Given the description of an element on the screen output the (x, y) to click on. 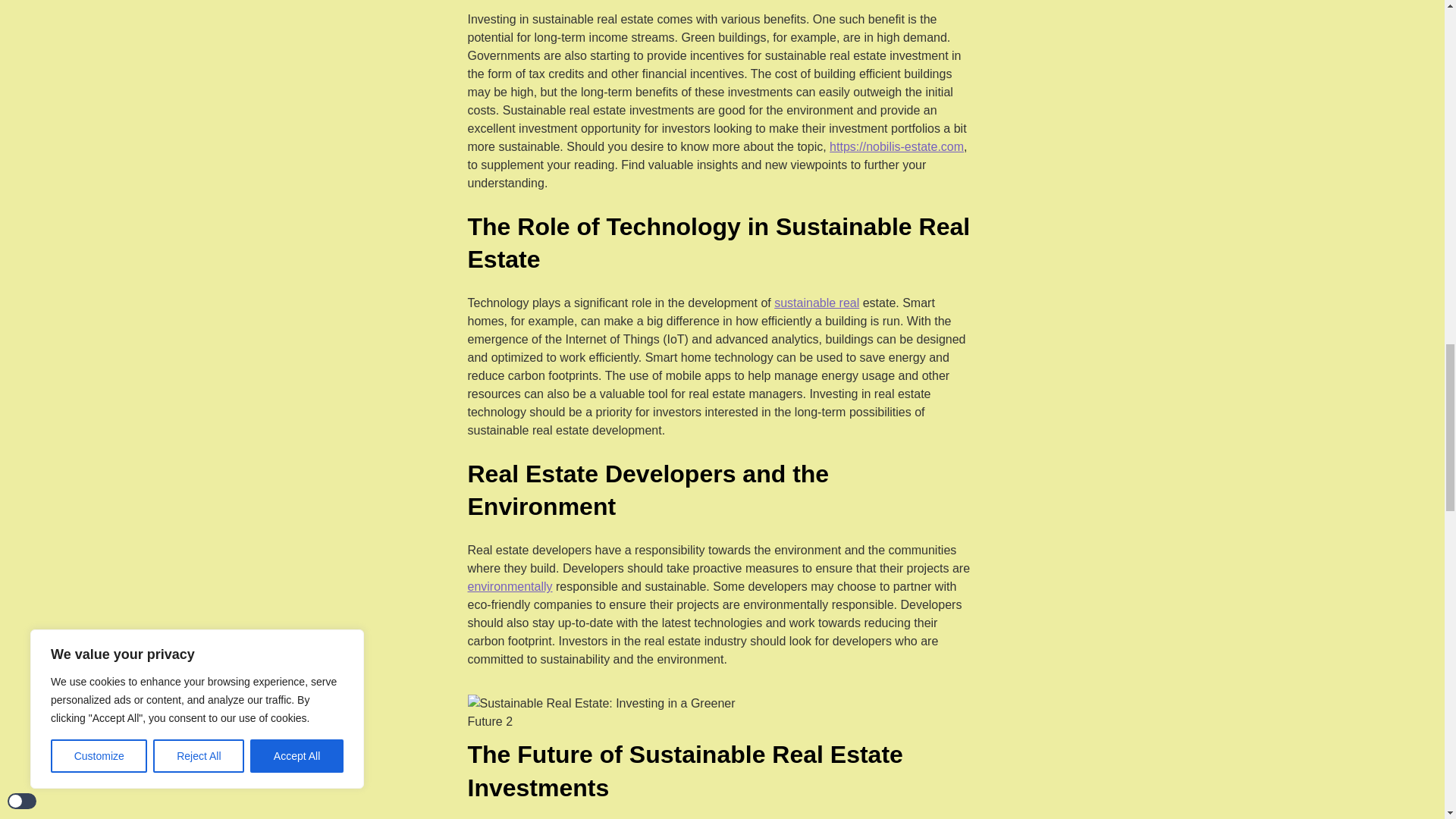
environmentally (509, 587)
sustainable real (816, 303)
